Given the description of an element on the screen output the (x, y) to click on. 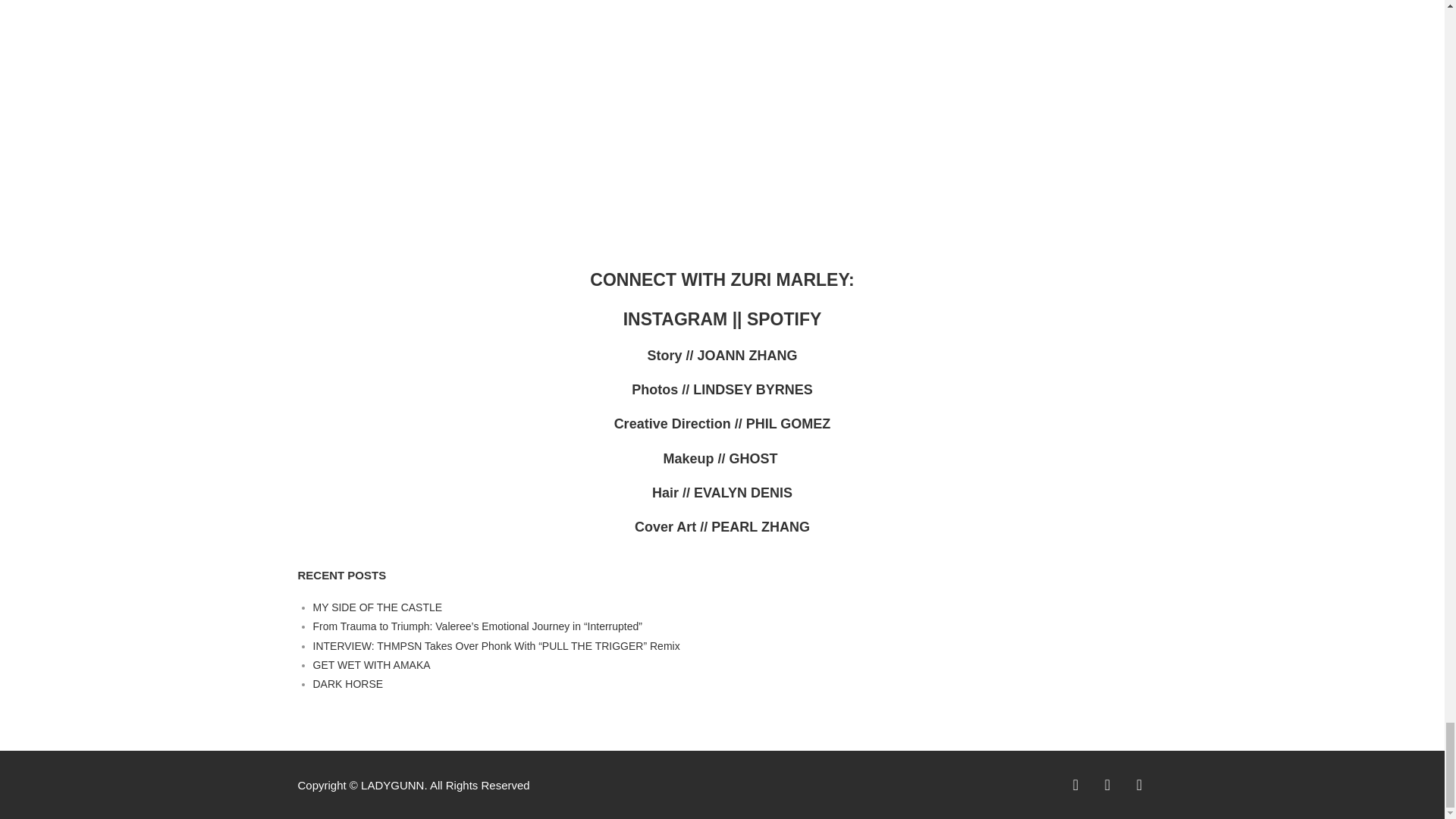
GHOST  (755, 458)
MY SIDE OF THE CASTLE (377, 607)
LINDSEY BYRNES (752, 389)
SPOTIFY (783, 319)
INSTAGRAM (677, 319)
GET WET WITH AMAKA (371, 664)
PHIL GOMEZ (788, 423)
JOANN ZHANG (747, 355)
EVALYN DENIS (743, 492)
